Given the description of an element on the screen output the (x, y) to click on. 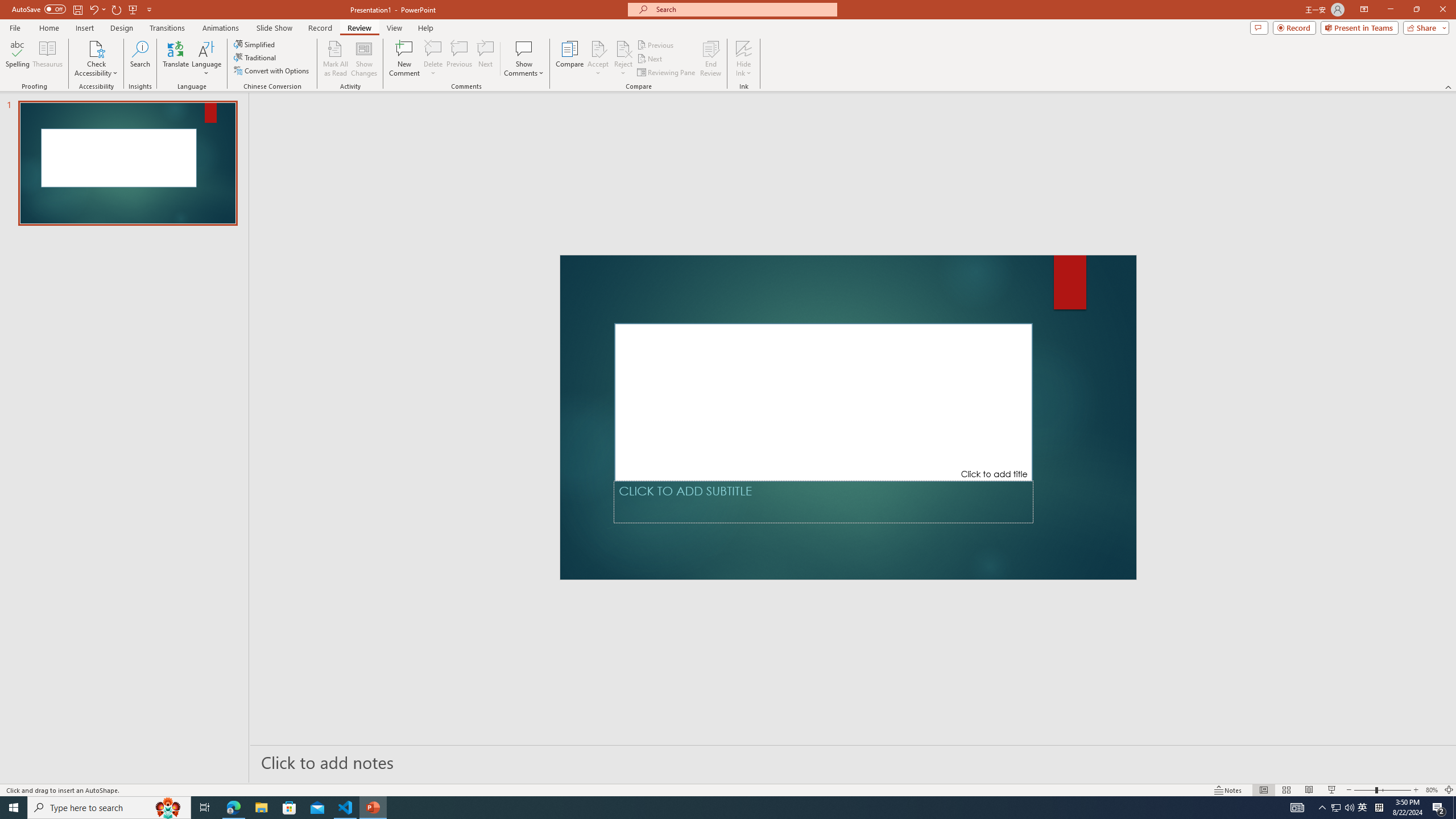
Reject Change (622, 48)
Reviewing Pane (666, 72)
Show Changes (363, 58)
Traditional (255, 56)
